Given the description of an element on the screen output the (x, y) to click on. 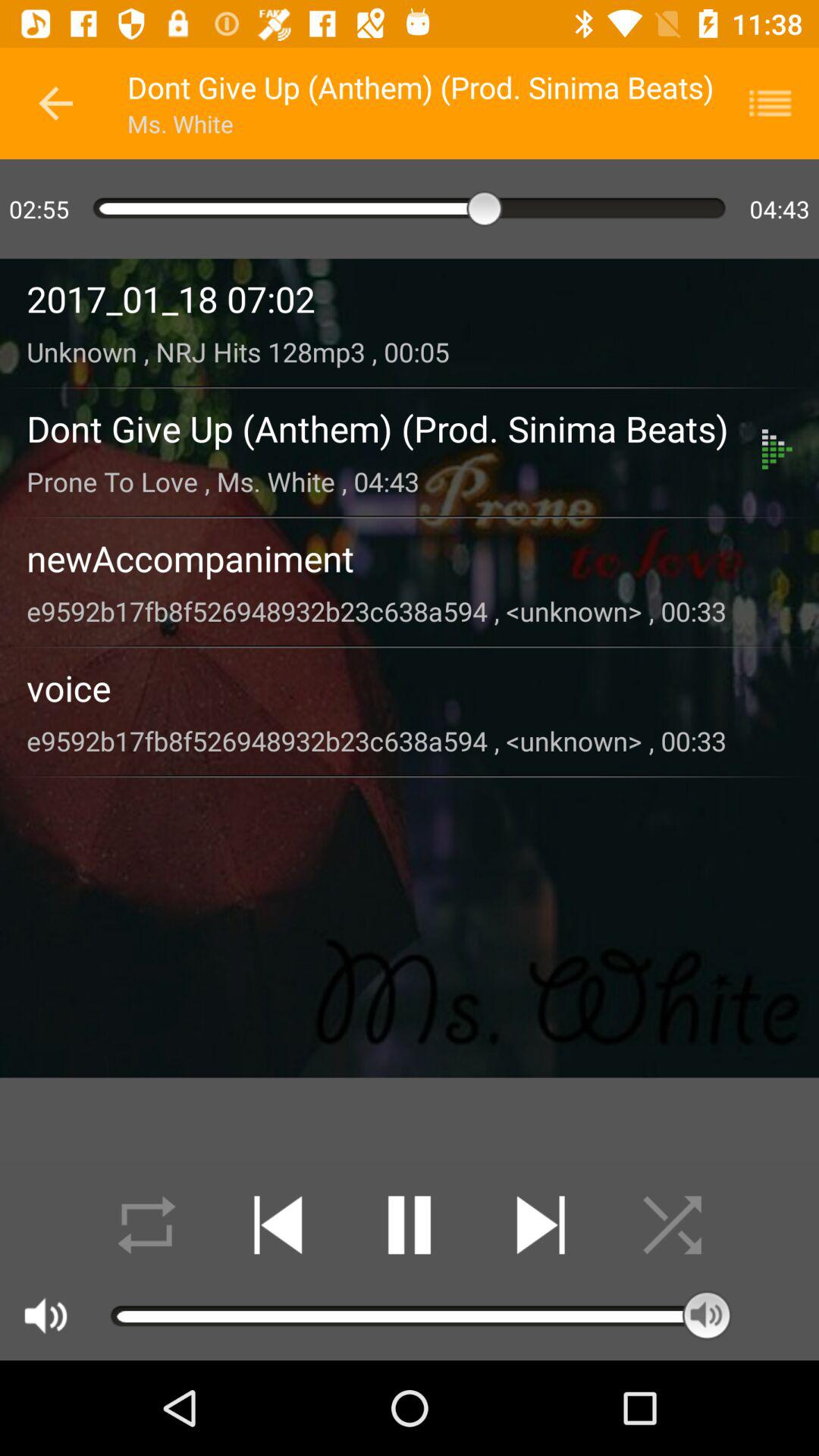
autoplay option (146, 1224)
